Given the description of an element on the screen output the (x, y) to click on. 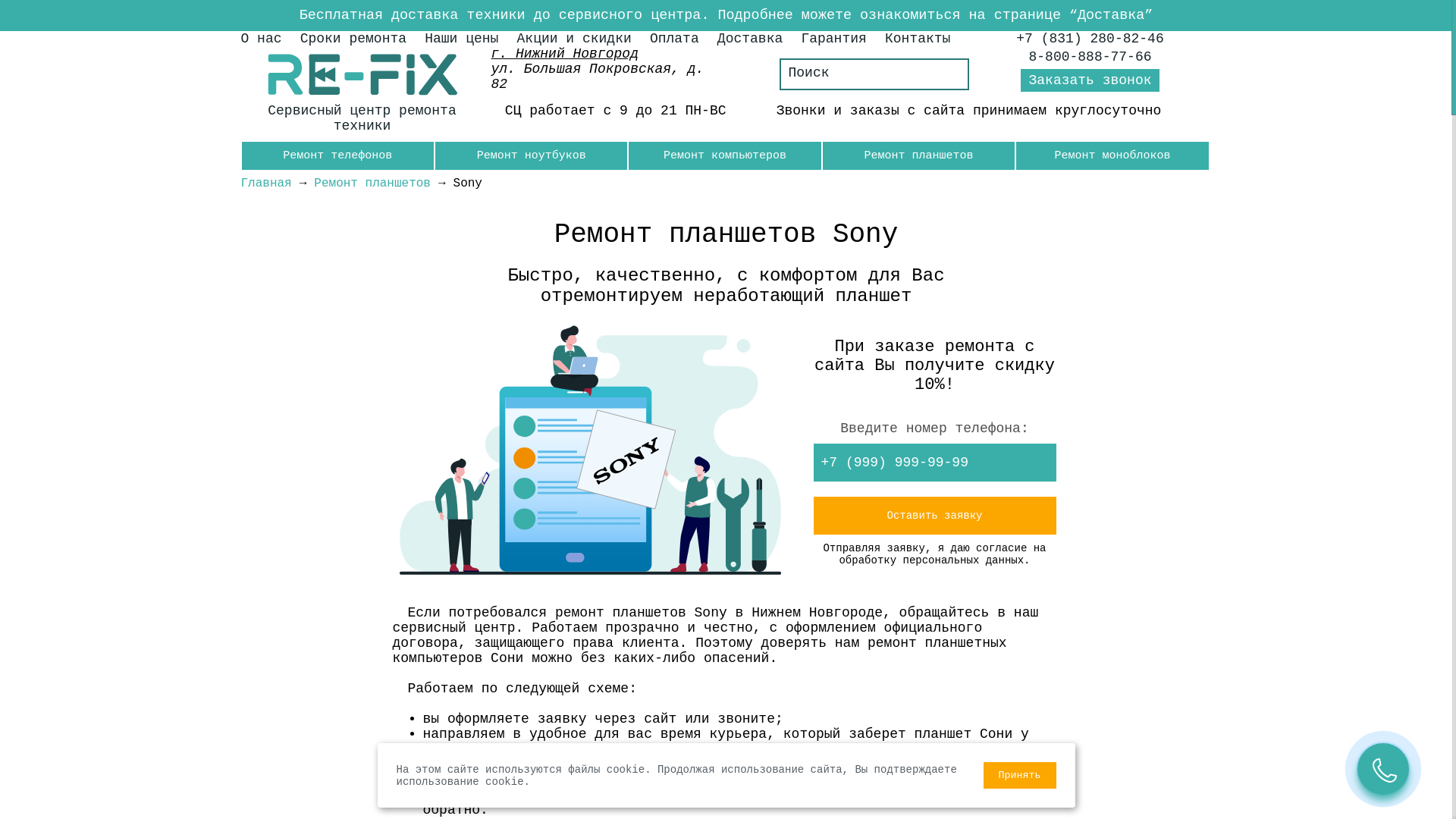
+7 (831) 280-82-46 Element type: text (1089, 38)
8-800-888-77-66 Element type: text (1090, 56)
